Given the description of an element on the screen output the (x, y) to click on. 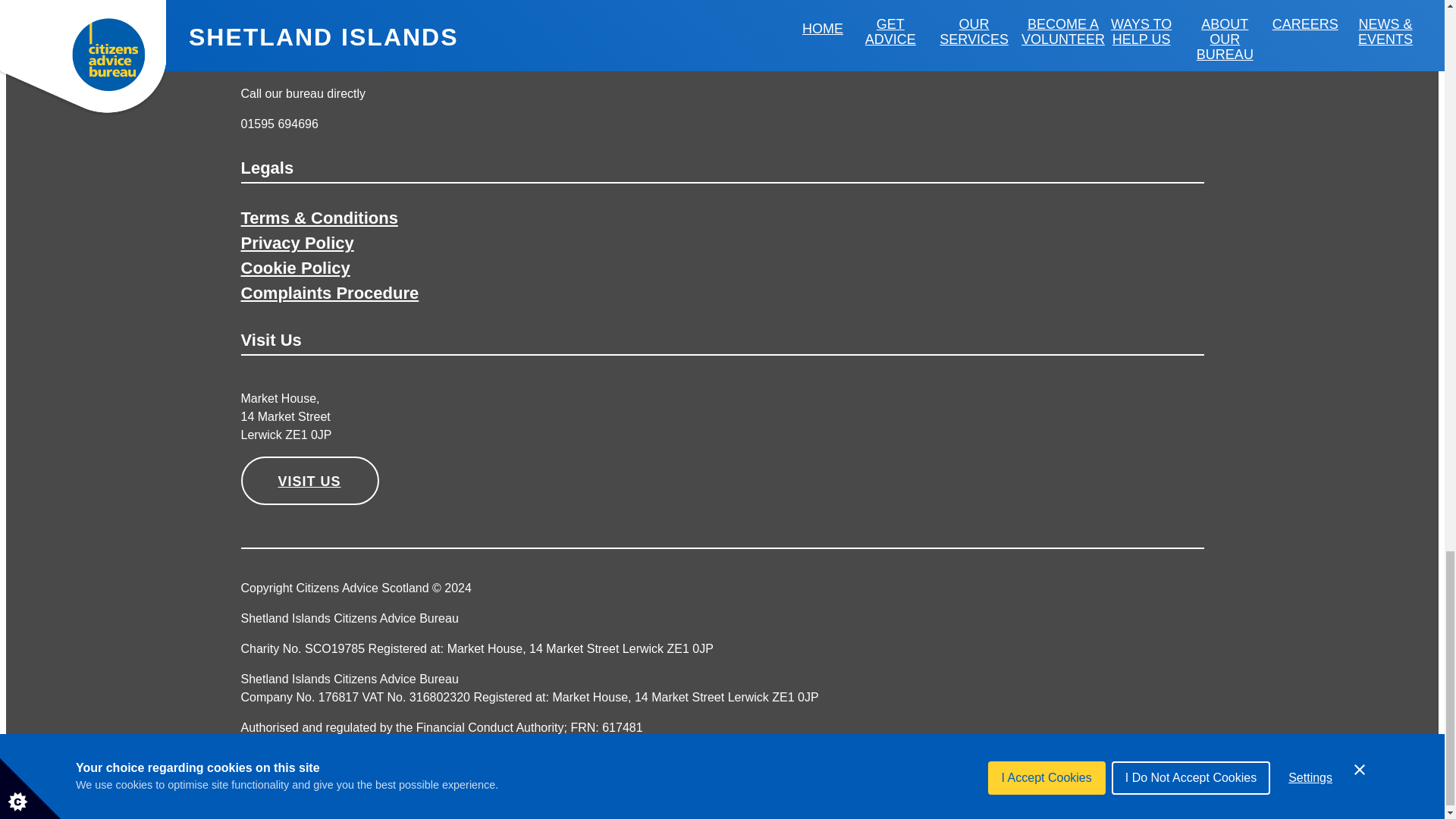
facebook (1174, 784)
Complaints Procedure (330, 292)
VISIT US (309, 480)
Privacy Policy (297, 242)
Cookie Policy (295, 267)
